Given the description of an element on the screen output the (x, y) to click on. 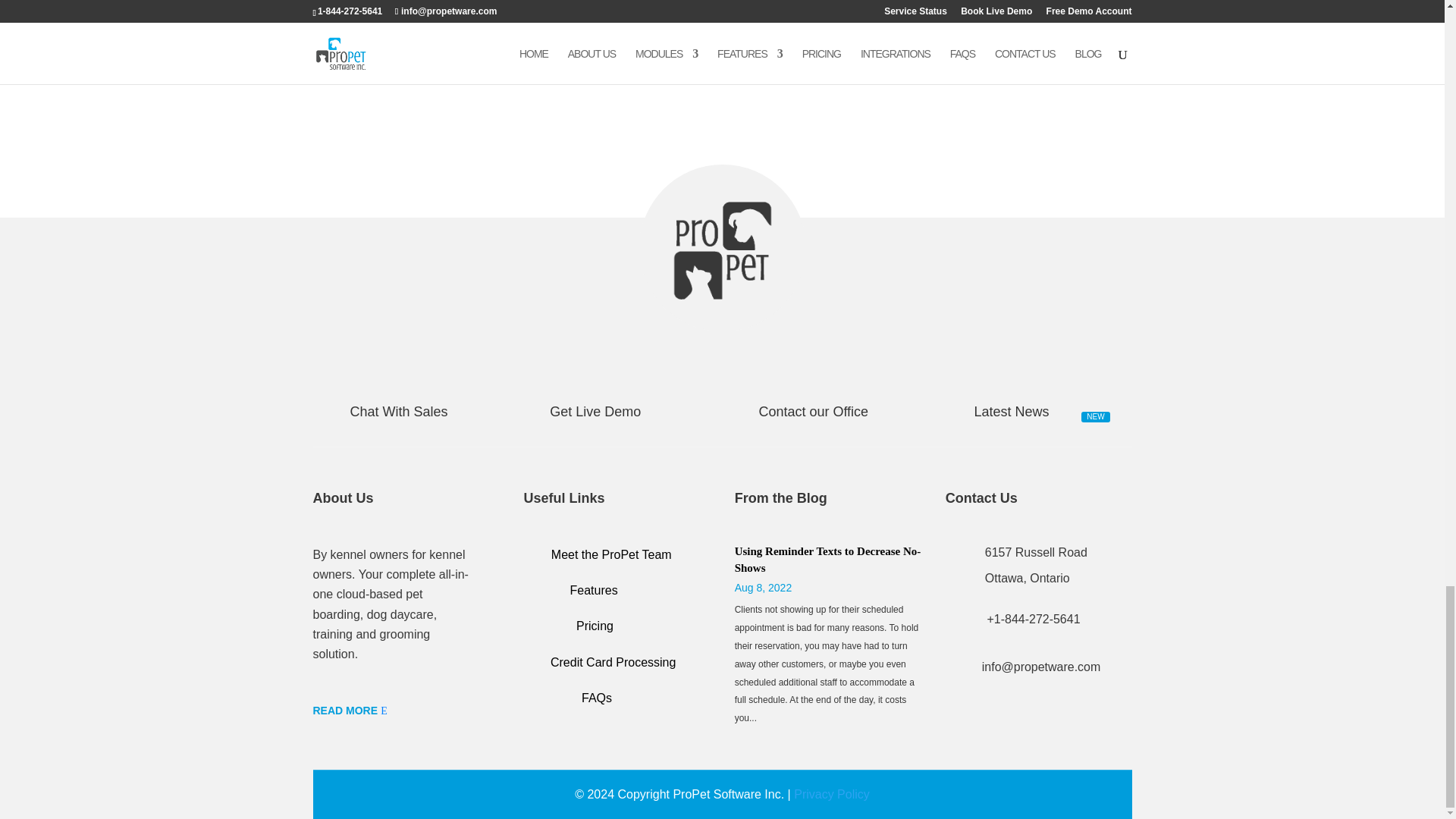
propet-website-footer-logo-383838 (721, 250)
